Given the description of an element on the screen output the (x, y) to click on. 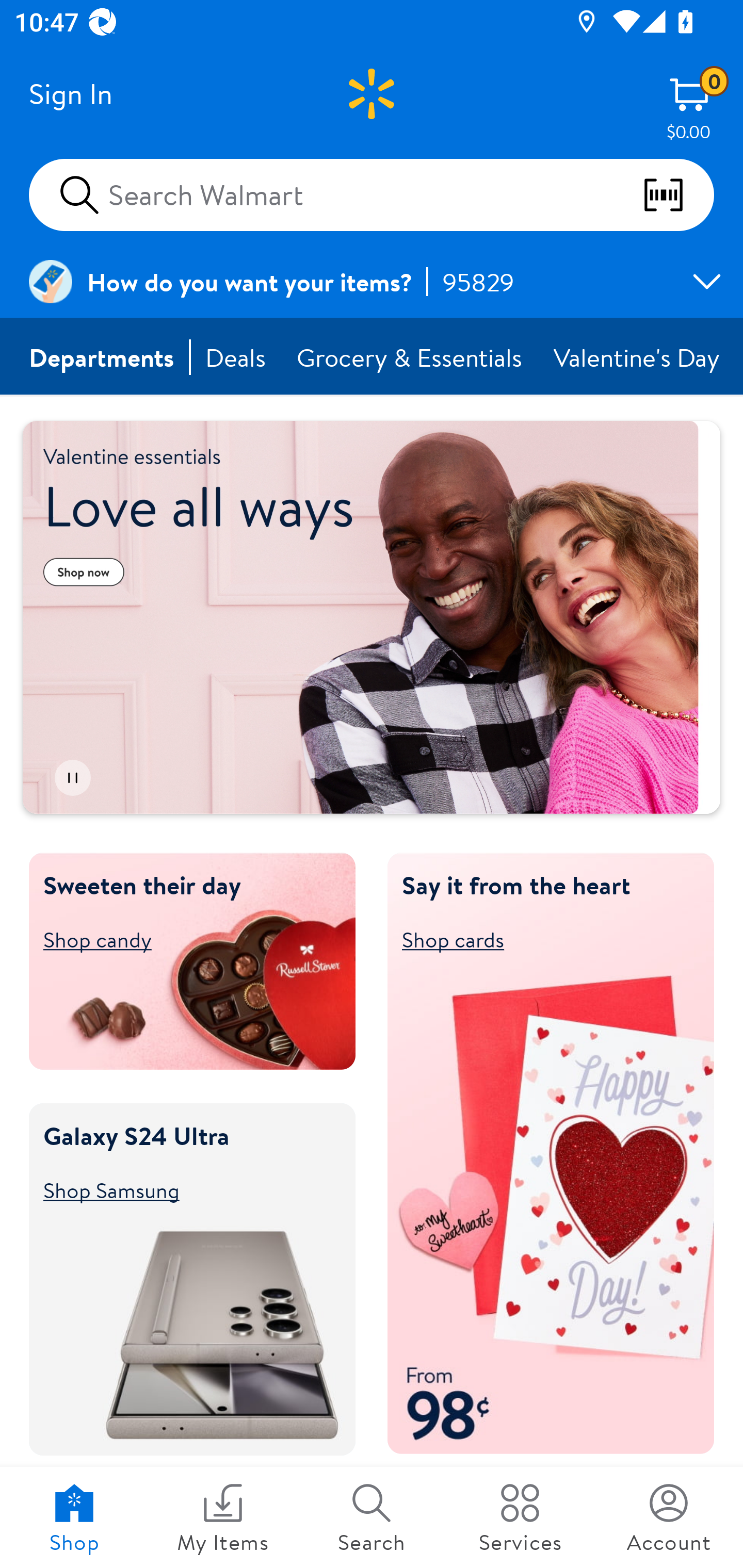
Sign In (70, 93)
Search Walmart scan barcodes qr codes and more (371, 194)
scan barcodes qr codes and more (677, 195)
Departments (102, 357)
Deals (236, 357)
Grocery & Essentials (410, 357)
Valentine's Day (637, 357)
Pause (72, 777)
Shop candy Shop candy Sweeten their day (183, 939)
Shop cards Shop cards Say it from the heart (541, 939)
Shop Samsung Shop Samsung Galaxy S24 Ultra (183, 1190)
My Items (222, 1517)
Search (371, 1517)
Services (519, 1517)
Account (668, 1517)
